Given the description of an element on the screen output the (x, y) to click on. 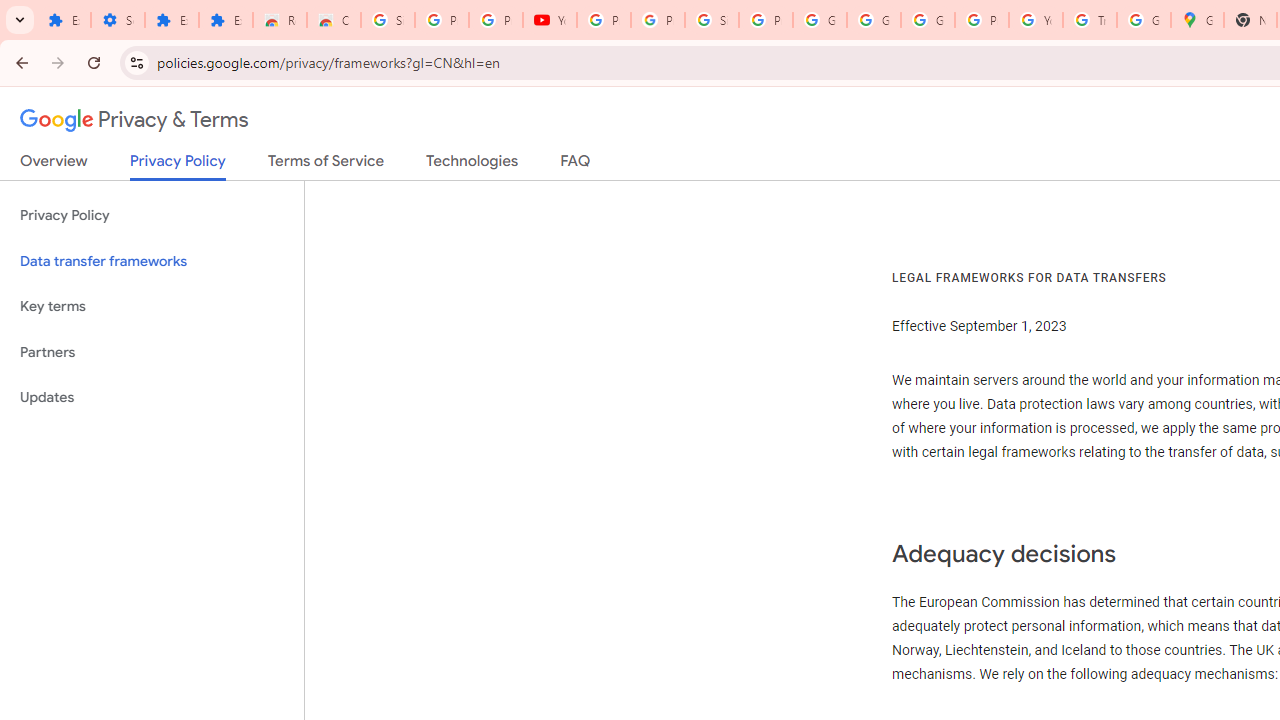
Google Maps (1197, 20)
Reviews: Helix Fruit Jump Arcade Game (280, 20)
YouTube (550, 20)
Extensions (225, 20)
Google Account (874, 20)
